Given the description of an element on the screen output the (x, y) to click on. 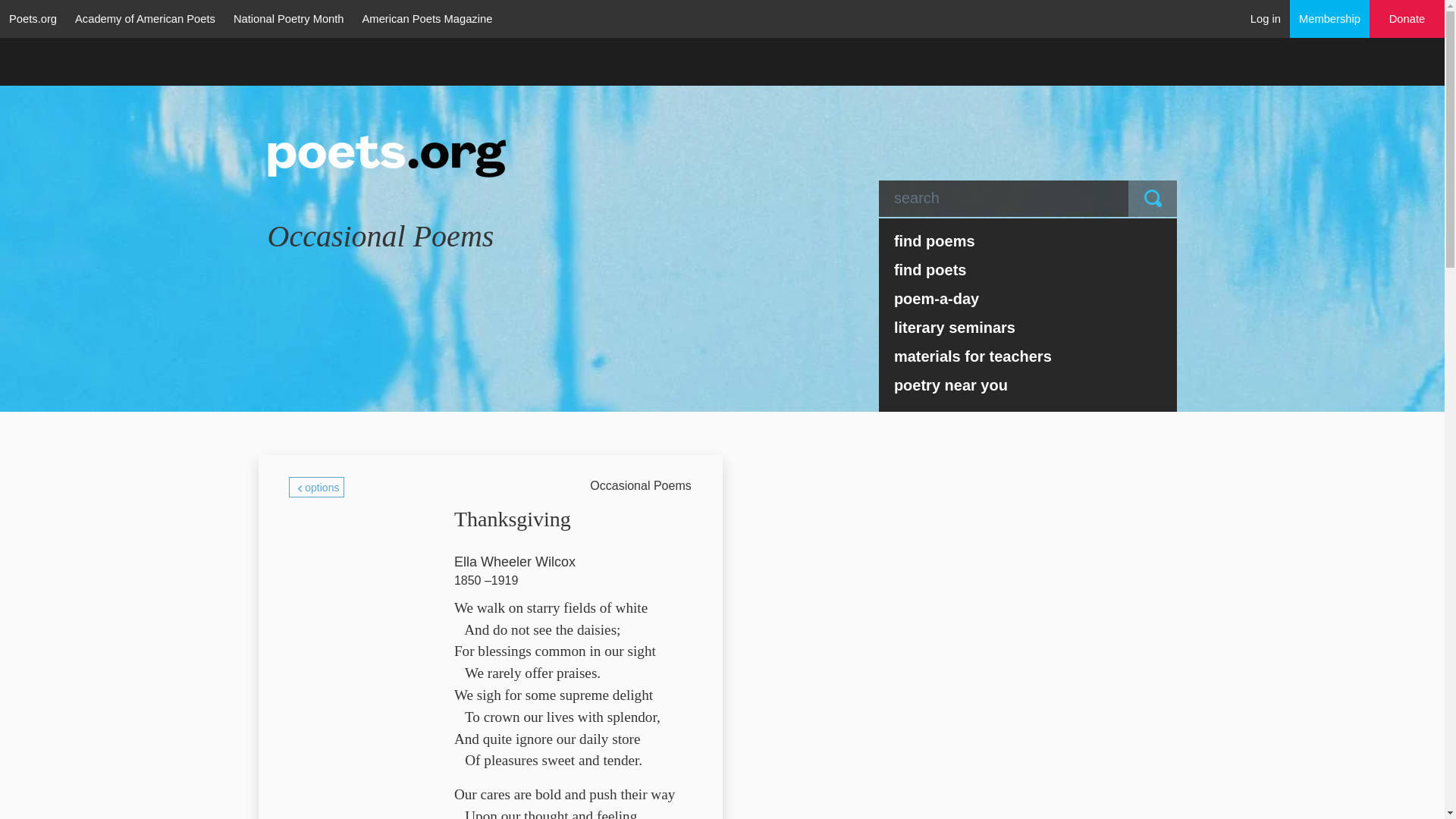
Donate (1407, 18)
poem-a-day (1028, 298)
Become a member of the Academy of American Poets (1330, 18)
options (315, 486)
poetry near you (1028, 385)
Thanksgiving (512, 515)
Academy of American Poets (144, 18)
American Poets Magazine (427, 18)
Ella Wheeler Wilcox (514, 562)
National Poetry Month (288, 18)
